Given the description of an element on the screen output the (x, y) to click on. 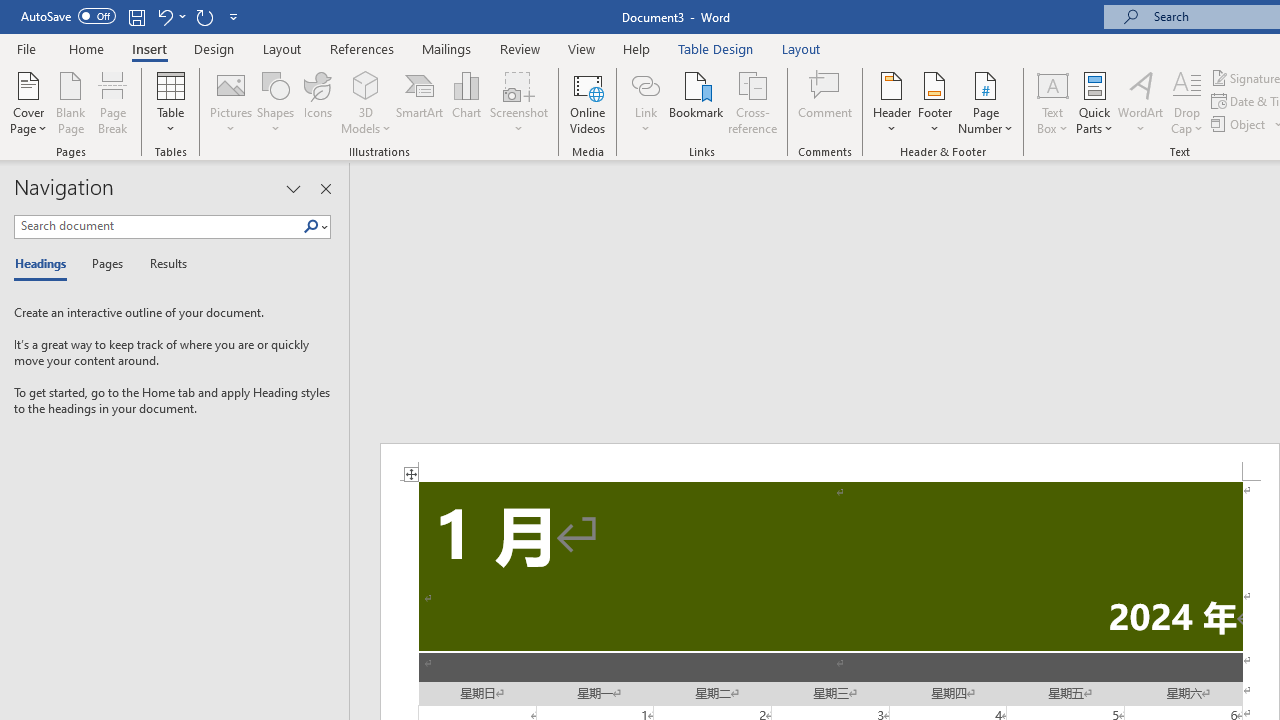
Quick Parts (1094, 102)
Cross-reference... (752, 102)
WordArt (1141, 102)
Undo Increase Indent (164, 15)
Undo Increase Indent (170, 15)
Screenshot (518, 102)
Cover Page (28, 102)
Blank Page (70, 102)
